Given the description of an element on the screen output the (x, y) to click on. 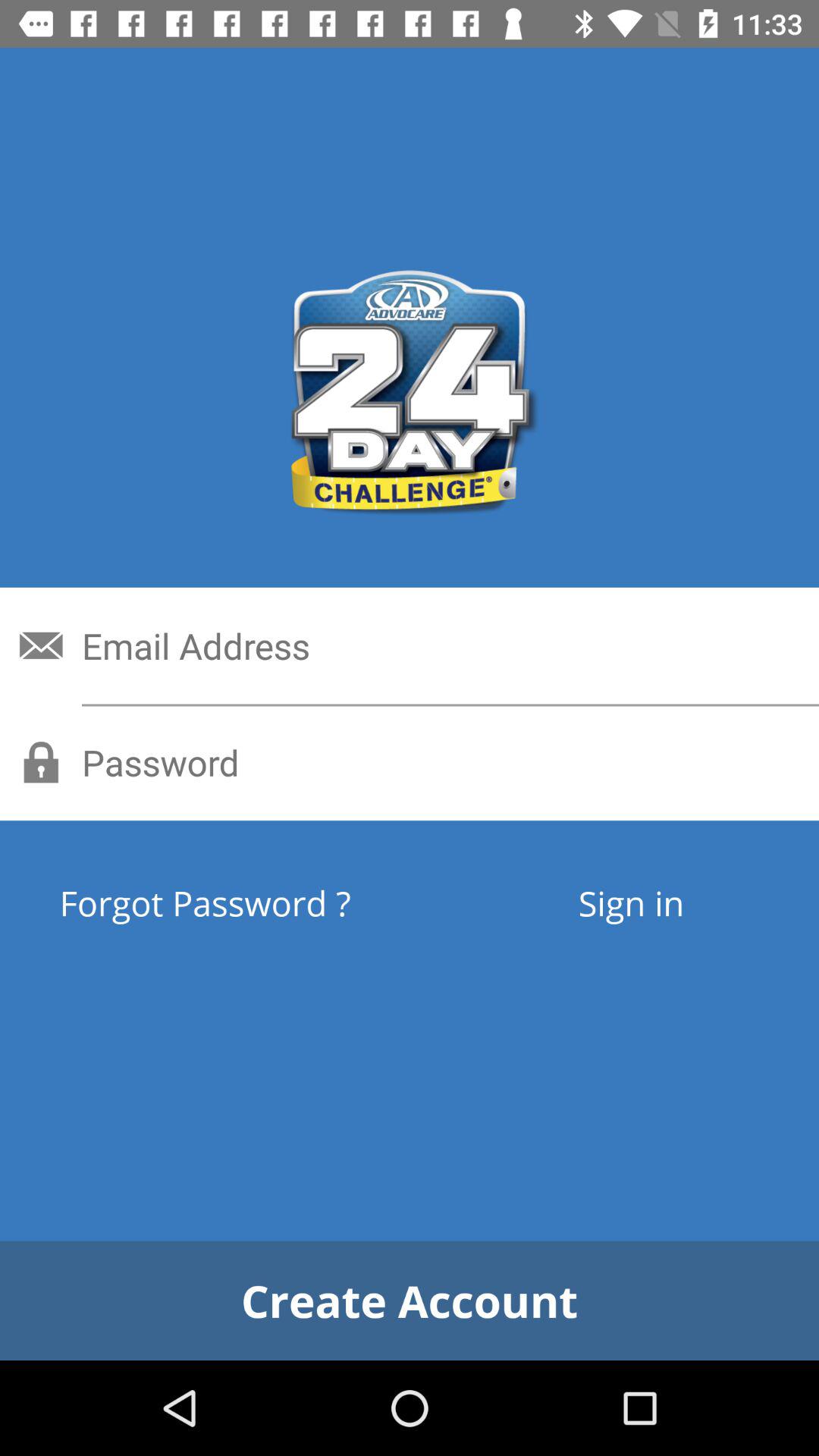
scroll to sign in (631, 902)
